Given the description of an element on the screen output the (x, y) to click on. 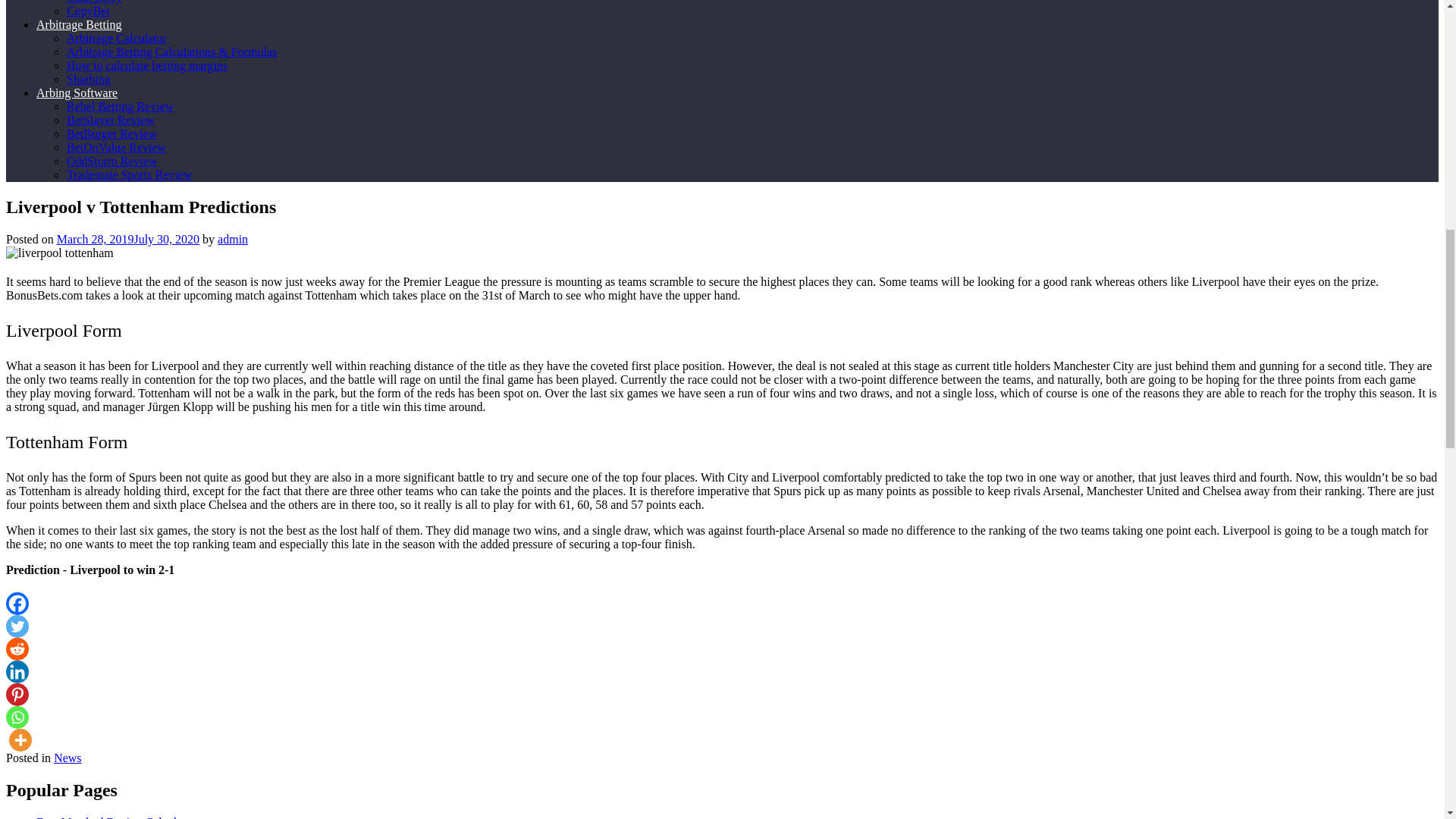
Twitter (17, 626)
More (19, 739)
Linkedin (17, 671)
Whatsapp (17, 716)
Reddit (17, 649)
Pinterest (17, 694)
Facebook (17, 603)
